Given the description of an element on the screen output the (x, y) to click on. 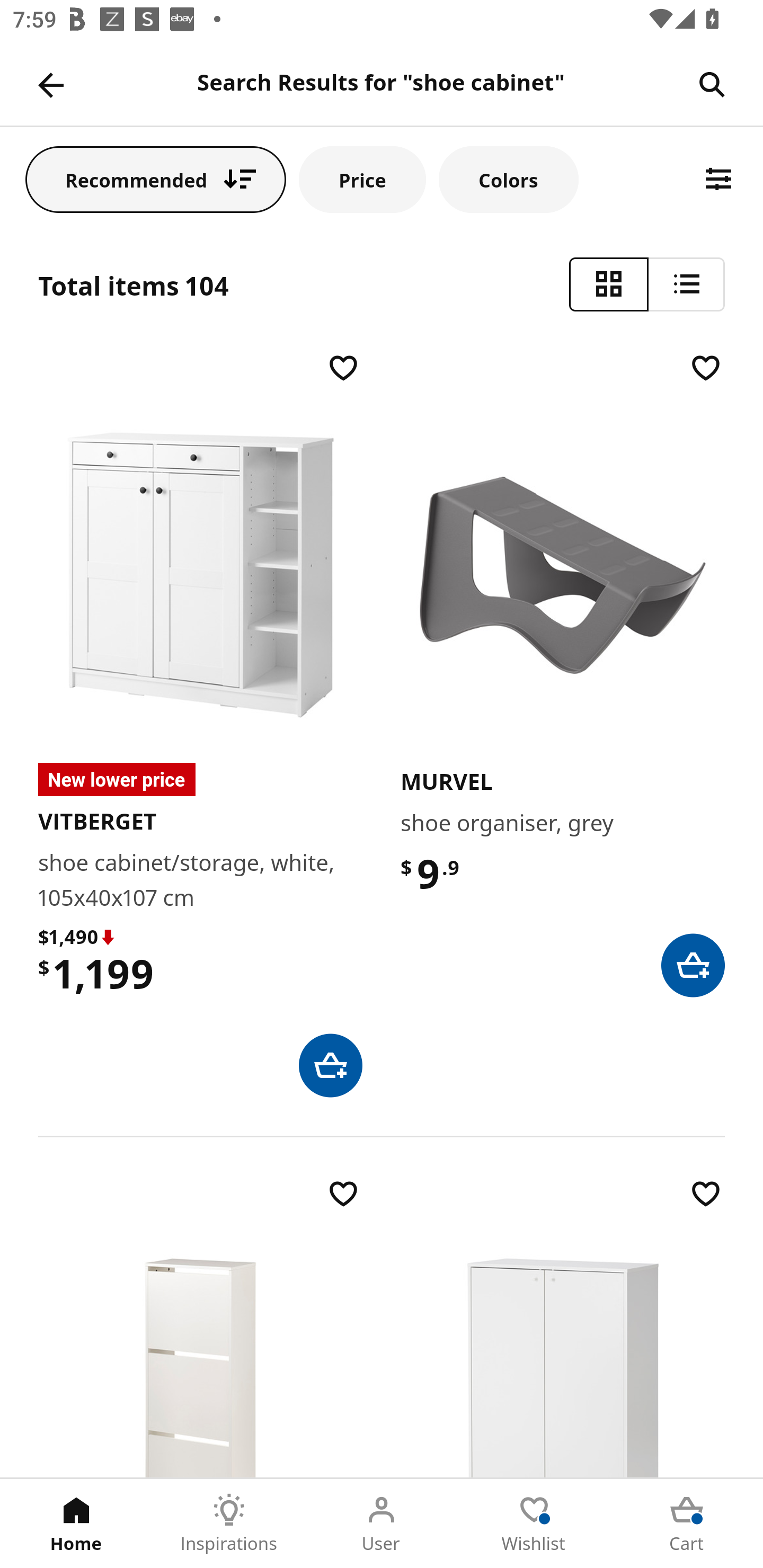
Recommended (155, 179)
Price (362, 179)
Colors (508, 179)
​M​U​R​V​E​L​
shoe organiser, grey
$
9
.9 (562, 673)
Home
Tab 1 of 5 (76, 1522)
Inspirations
Tab 2 of 5 (228, 1522)
User
Tab 3 of 5 (381, 1522)
Wishlist
Tab 4 of 5 (533, 1522)
Cart
Tab 5 of 5 (686, 1522)
